Given the description of an element on the screen output the (x, y) to click on. 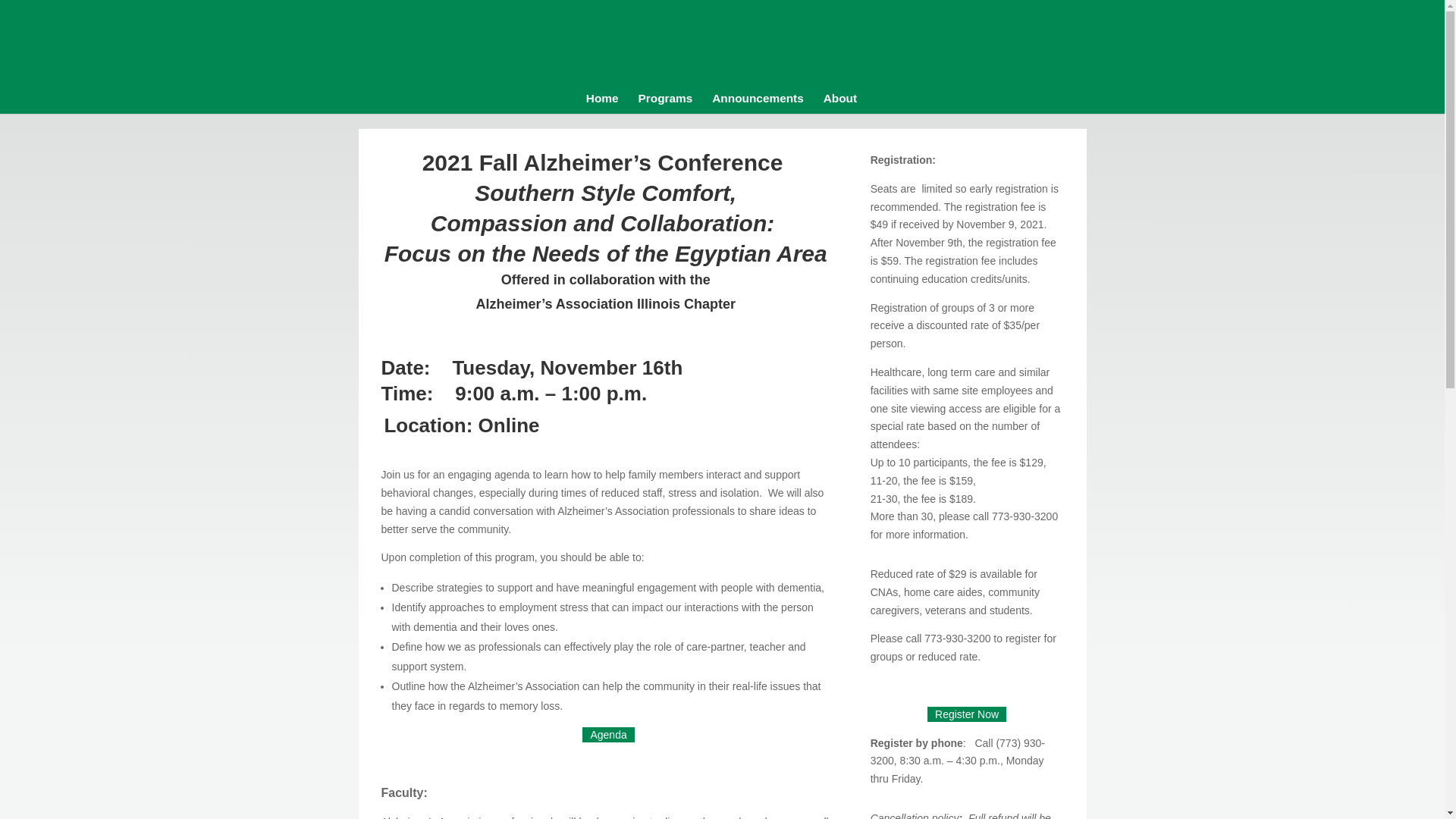
About (840, 110)
Home (602, 110)
Register Now (966, 713)
Programs (665, 110)
Agenda (607, 734)
Announcements (757, 110)
